Given the description of an element on the screen output the (x, y) to click on. 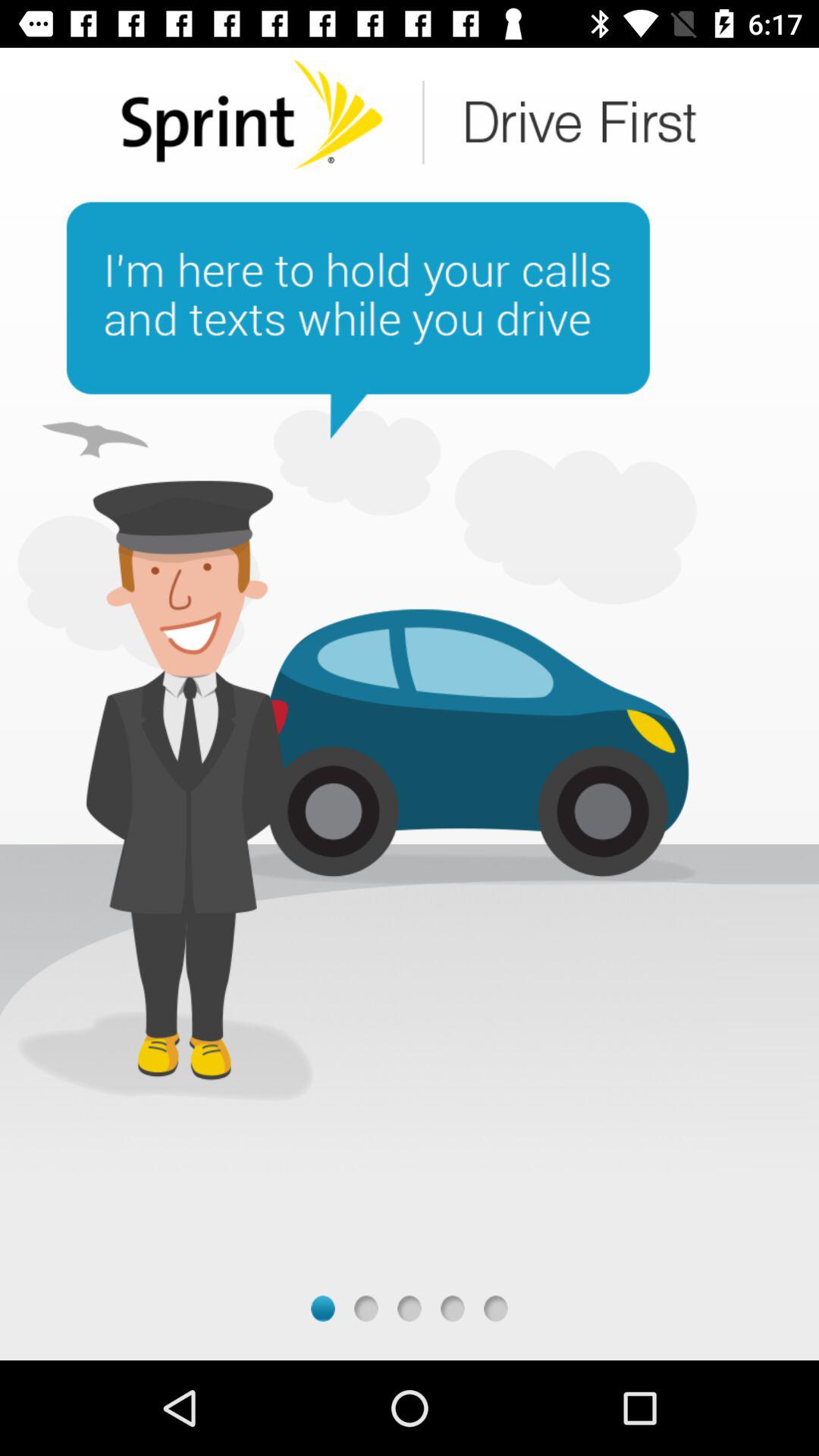
go to next page (409, 1308)
